Given the description of an element on the screen output the (x, y) to click on. 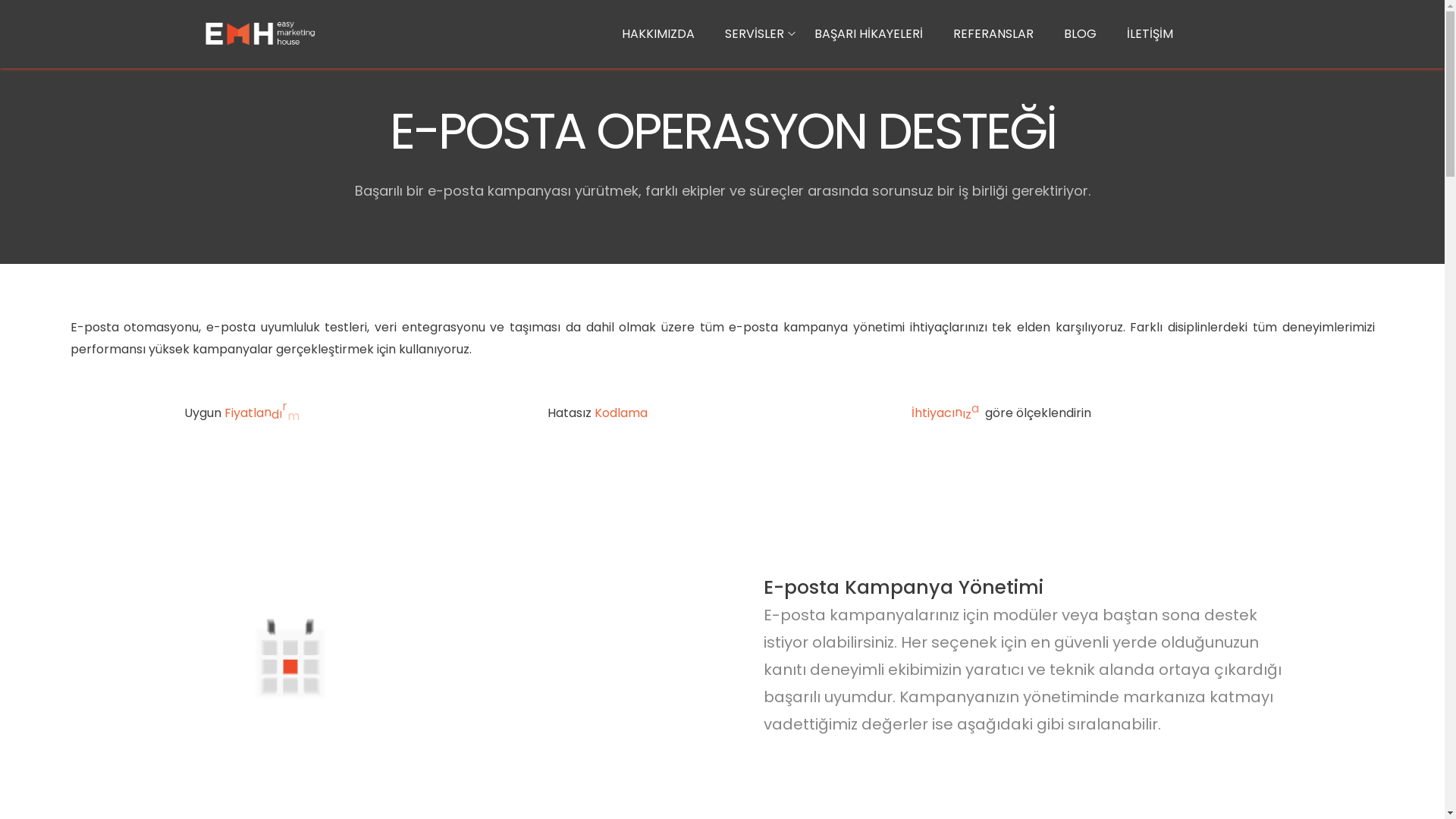
BLOG Element type: text (1079, 34)
REFERANSLAR Element type: text (993, 34)
HAKKIMIZDA Element type: text (657, 34)
